Given the description of an element on the screen output the (x, y) to click on. 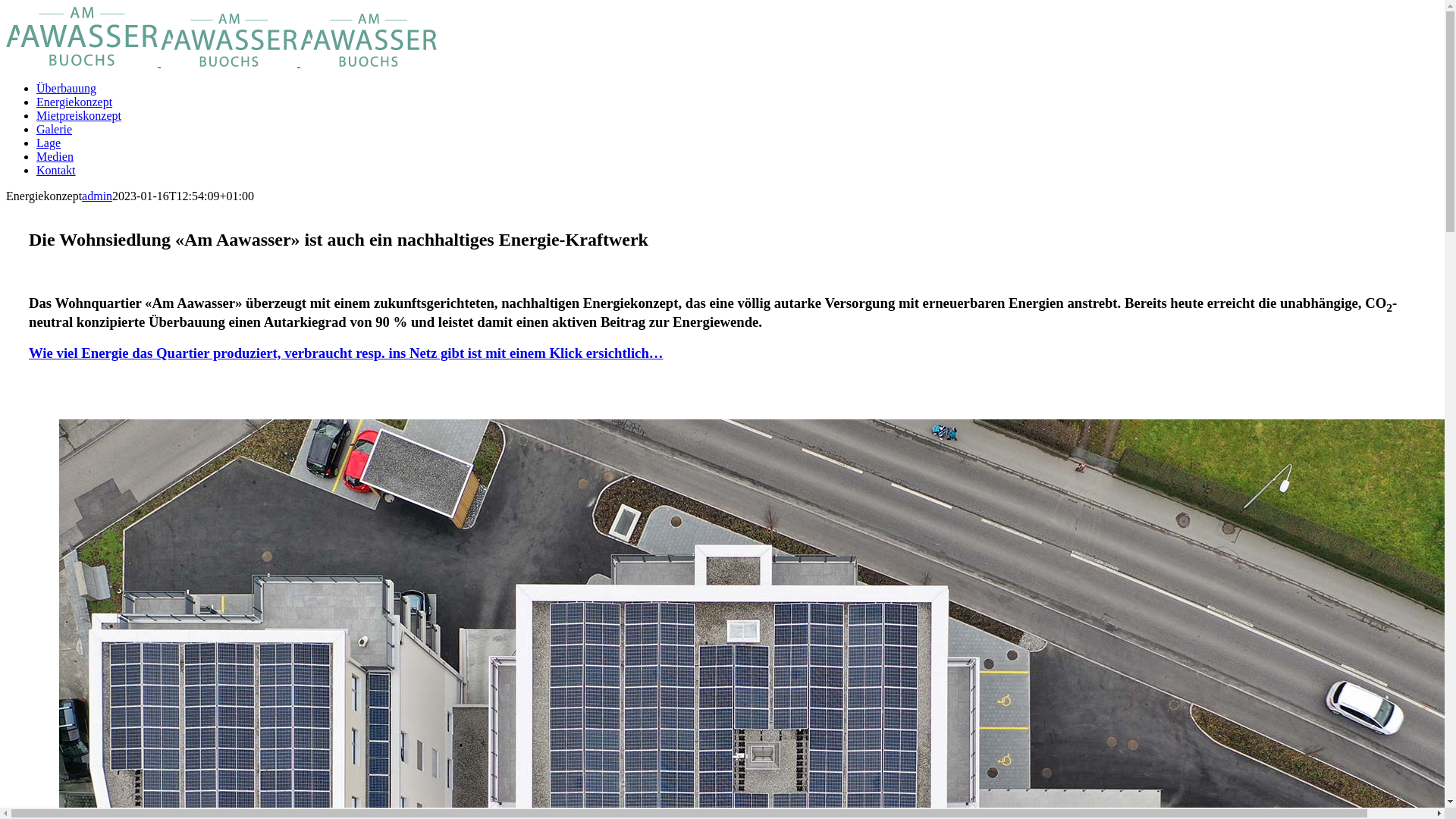
Medien Element type: text (54, 156)
Galerie Element type: text (54, 128)
Kontakt Element type: text (55, 169)
Mietpreiskonzept Element type: text (78, 115)
Skip to content Element type: text (5, 5)
admin Element type: text (96, 195)
Energiekonzept Element type: text (74, 101)
Lage Element type: text (48, 142)
